Given the description of an element on the screen output the (x, y) to click on. 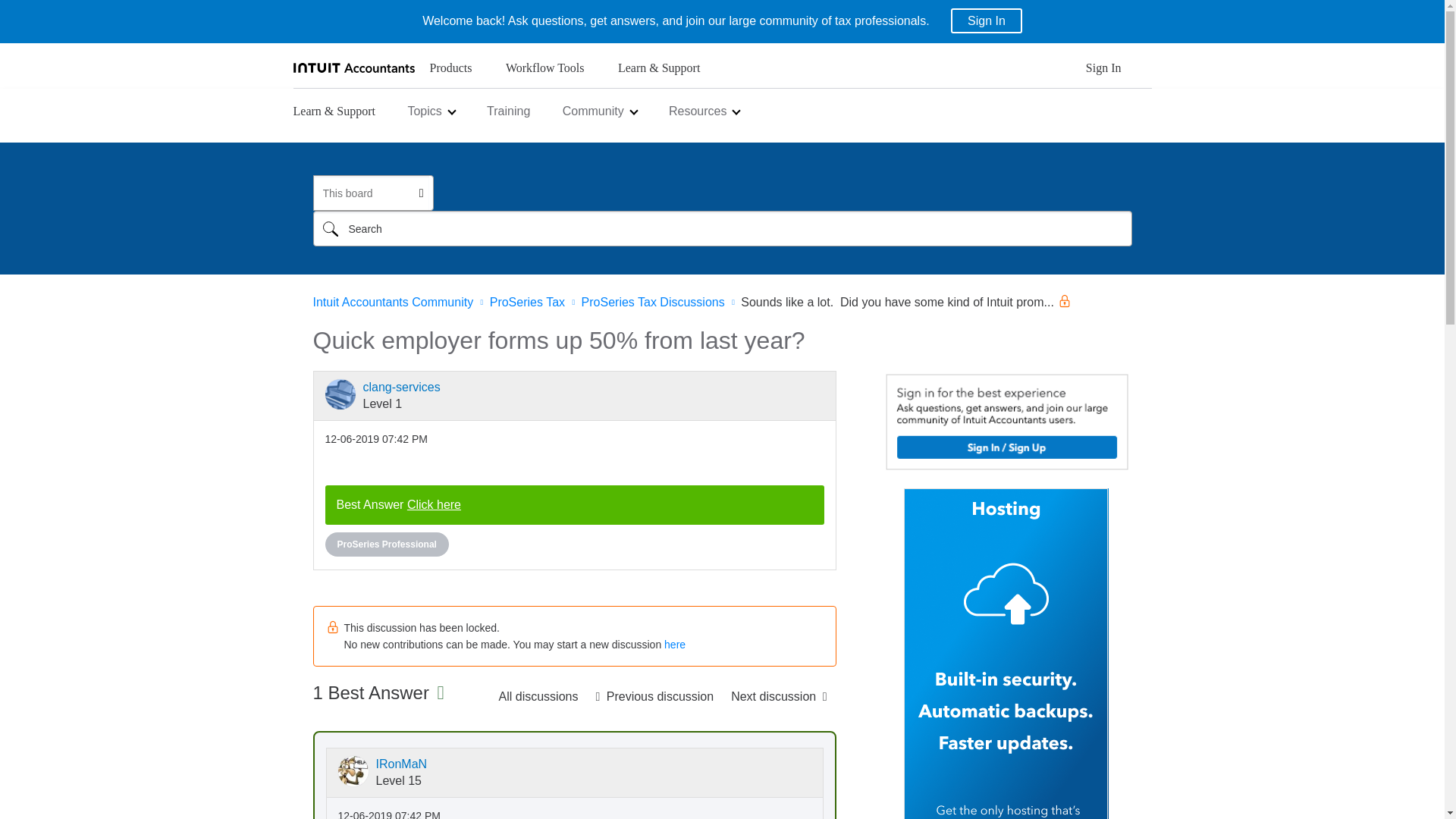
Sign In (1103, 72)
Search (330, 228)
ProSeries Tax Discussions (538, 696)
Posted on (375, 439)
clang-services (339, 394)
Search Granularity (371, 192)
Search (722, 228)
Search (330, 228)
How do I get the wireless internet in a new computer? (654, 696)
Sign In (986, 20)
